Given the description of an element on the screen output the (x, y) to click on. 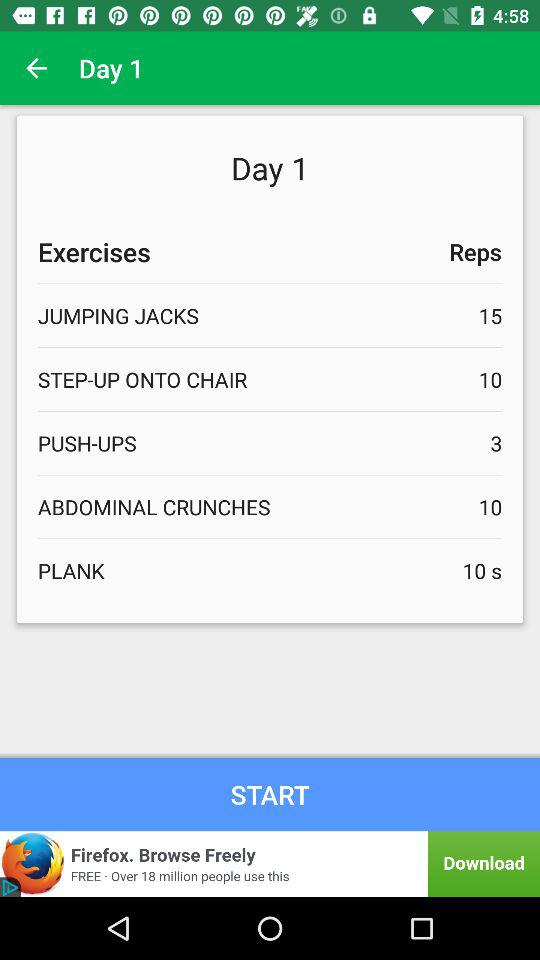
select the item to the left of the day 1 item (36, 68)
